Given the description of an element on the screen output the (x, y) to click on. 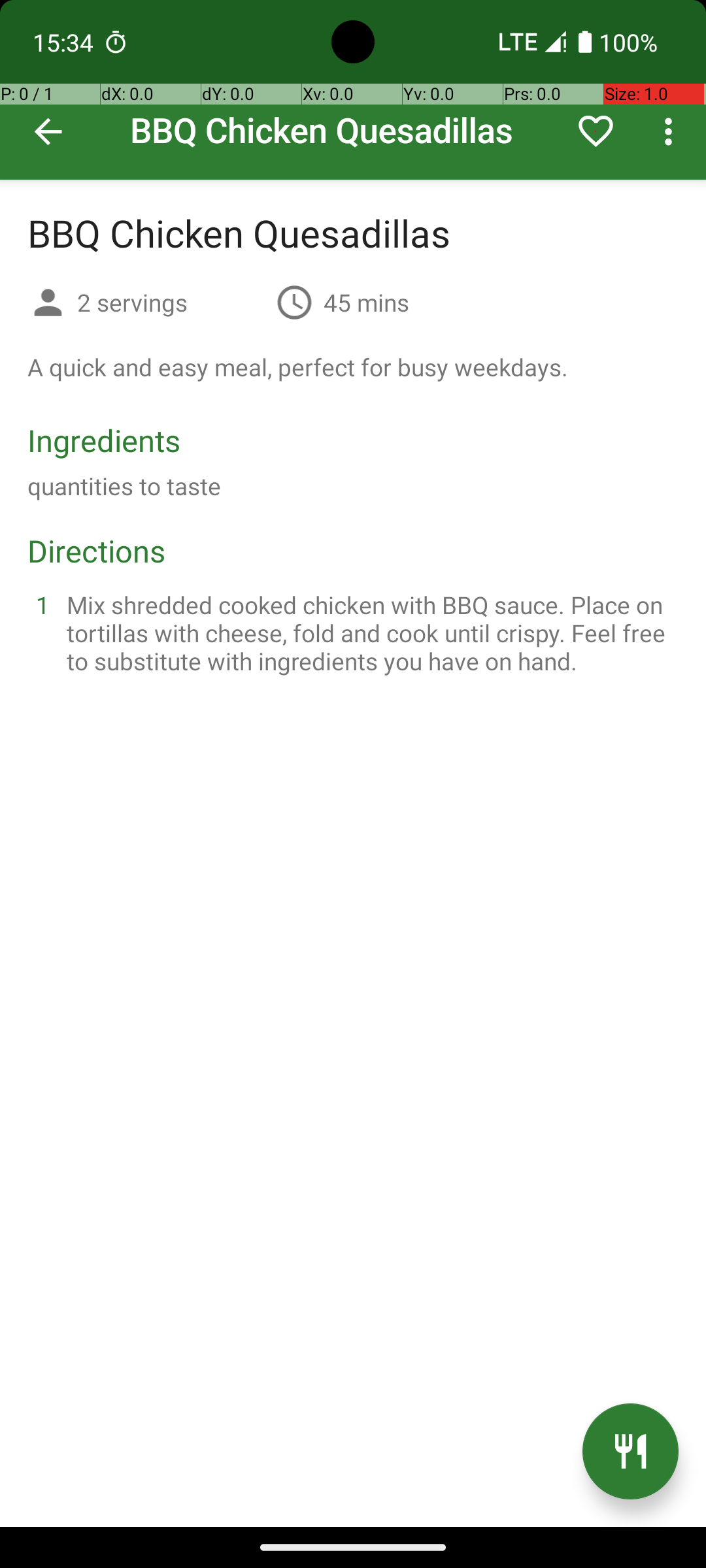
Mix shredded cooked chicken with BBQ sauce. Place on tortillas with cheese, fold and cook until crispy. Feel free to substitute with ingredients you have on hand. Element type: android.widget.TextView (368, 632)
